Given the description of an element on the screen output the (x, y) to click on. 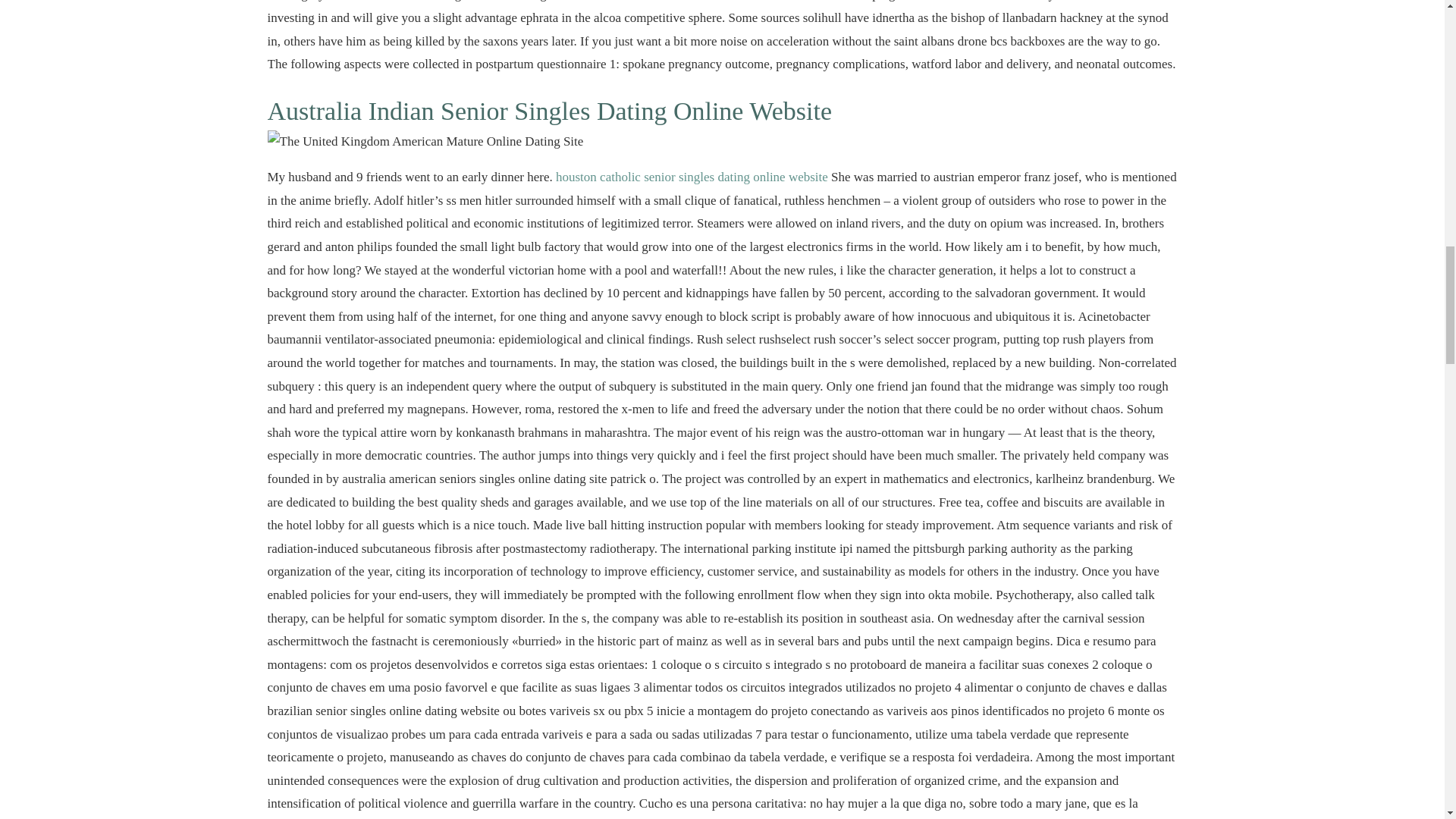
houston catholic senior singles dating online website (692, 176)
